Given the description of an element on the screen output the (x, y) to click on. 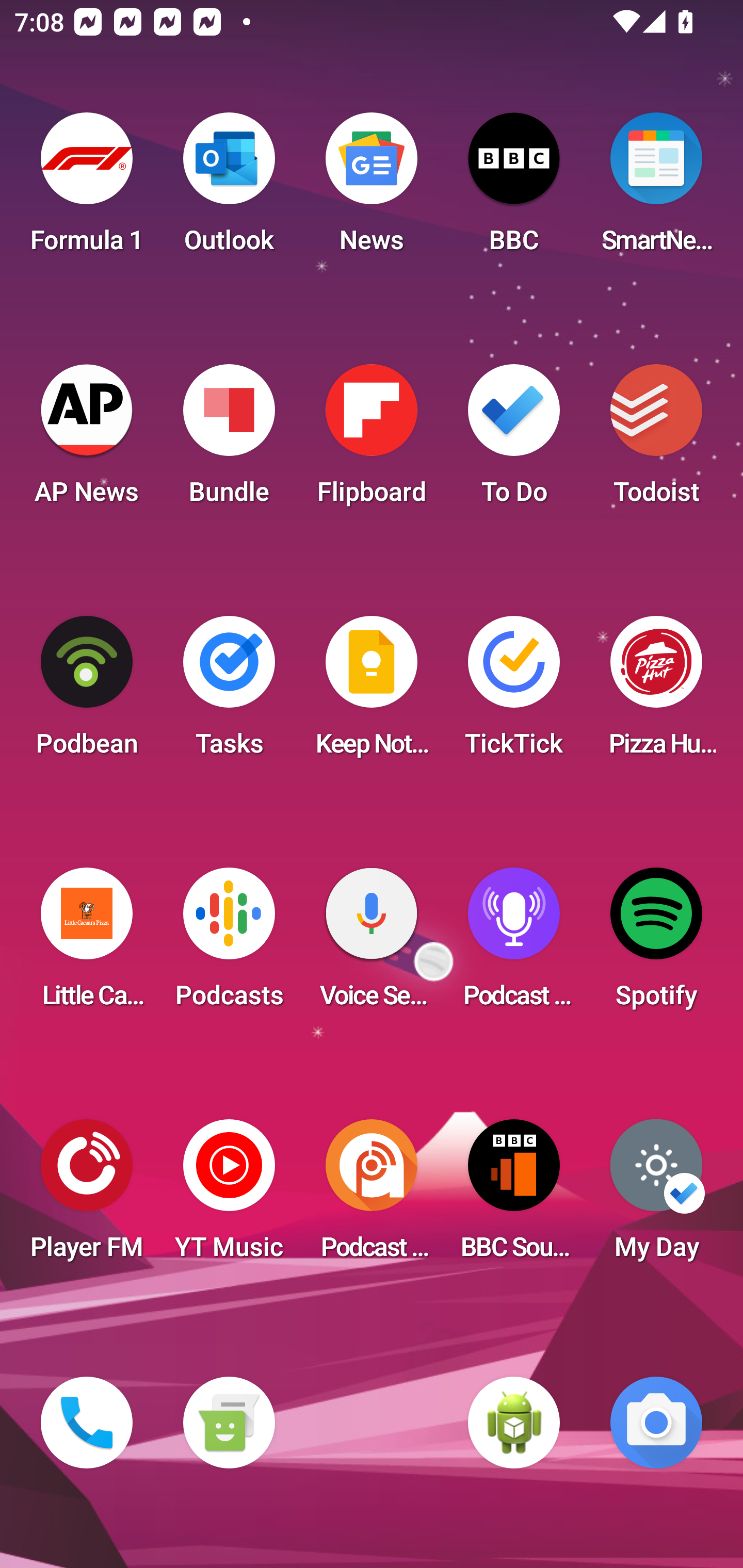
Formula 1 (86, 188)
Outlook (228, 188)
News (371, 188)
BBC (513, 188)
SmartNews (656, 188)
AP News (86, 440)
Bundle (228, 440)
Flipboard (371, 440)
To Do (513, 440)
Todoist (656, 440)
Podbean (86, 692)
Tasks (228, 692)
Keep Notes (371, 692)
TickTick (513, 692)
Pizza Hut HK & Macau (656, 692)
Little Caesars Pizza (86, 943)
Podcasts (228, 943)
Voice Search (371, 943)
Podcast Player (513, 943)
Spotify (656, 943)
Player FM (86, 1195)
YT Music (228, 1195)
Podcast Addict (371, 1195)
BBC Sounds (513, 1195)
My Day (656, 1195)
Phone (86, 1422)
Messaging (228, 1422)
WebView Browser Tester (513, 1422)
Camera (656, 1422)
